Given the description of an element on the screen output the (x, y) to click on. 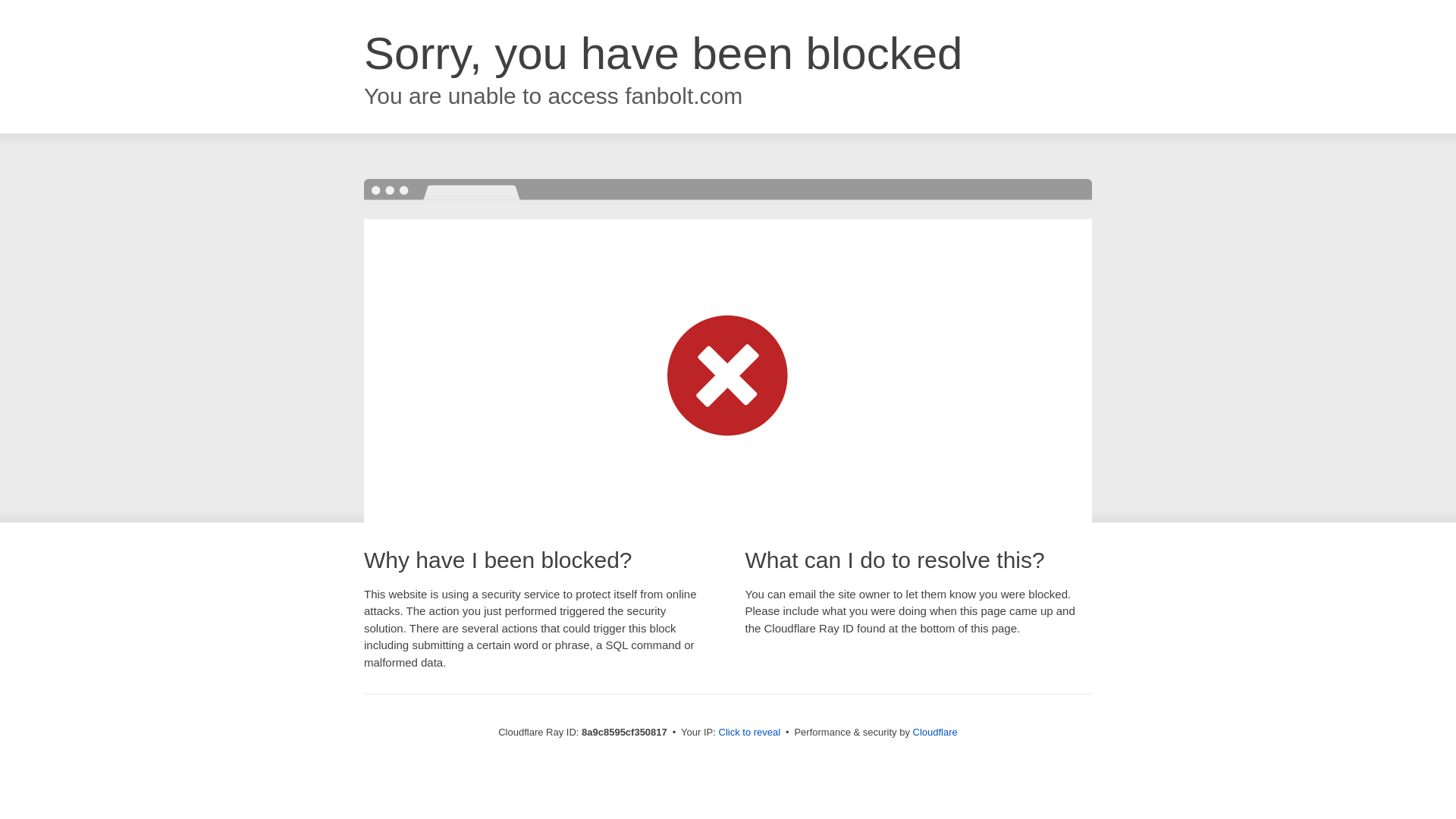
Click to reveal (749, 732)
Cloudflare (935, 731)
